Given the description of an element on the screen output the (x, y) to click on. 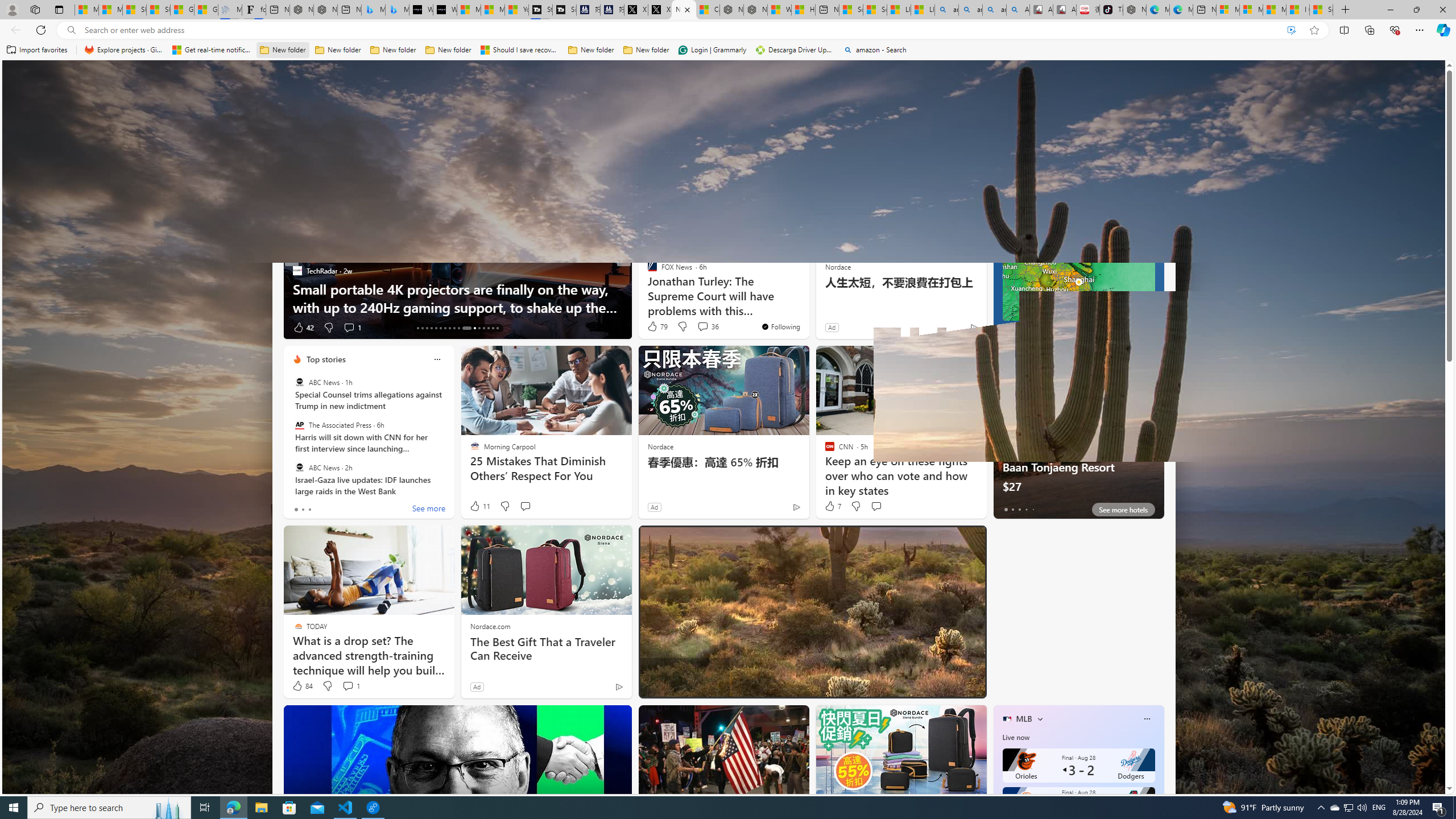
Watch (619, 151)
You're following FOX News (780, 326)
amazon - Search Images (993, 9)
My location (1043, 179)
Daily (1052, 233)
All Cubot phones (1064, 9)
aqi-icon AQI 93 Moderate air quality (1116, 208)
See more (795, 179)
AutomationID: tab-22 (458, 328)
Streaming Coverage | T3 (540, 9)
See full forecast (1123, 329)
